Given the description of an element on the screen output the (x, y) to click on. 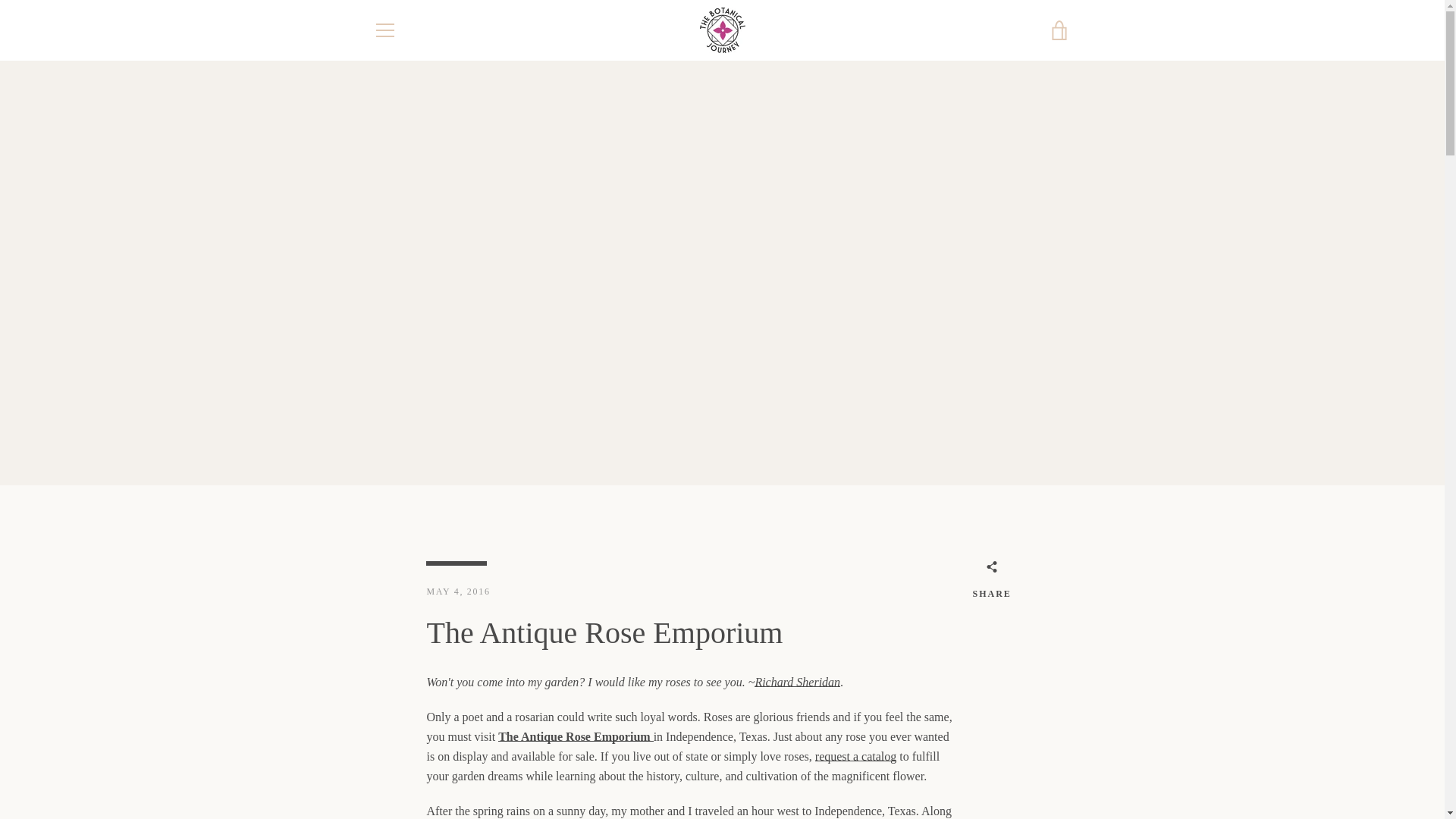
Richard Sheridan (797, 681)
The Antique Rose Emporium (574, 736)
SHARE (991, 582)
VIEW CART (1059, 30)
MENU (384, 30)
request a catalog (855, 756)
